Given the description of an element on the screen output the (x, y) to click on. 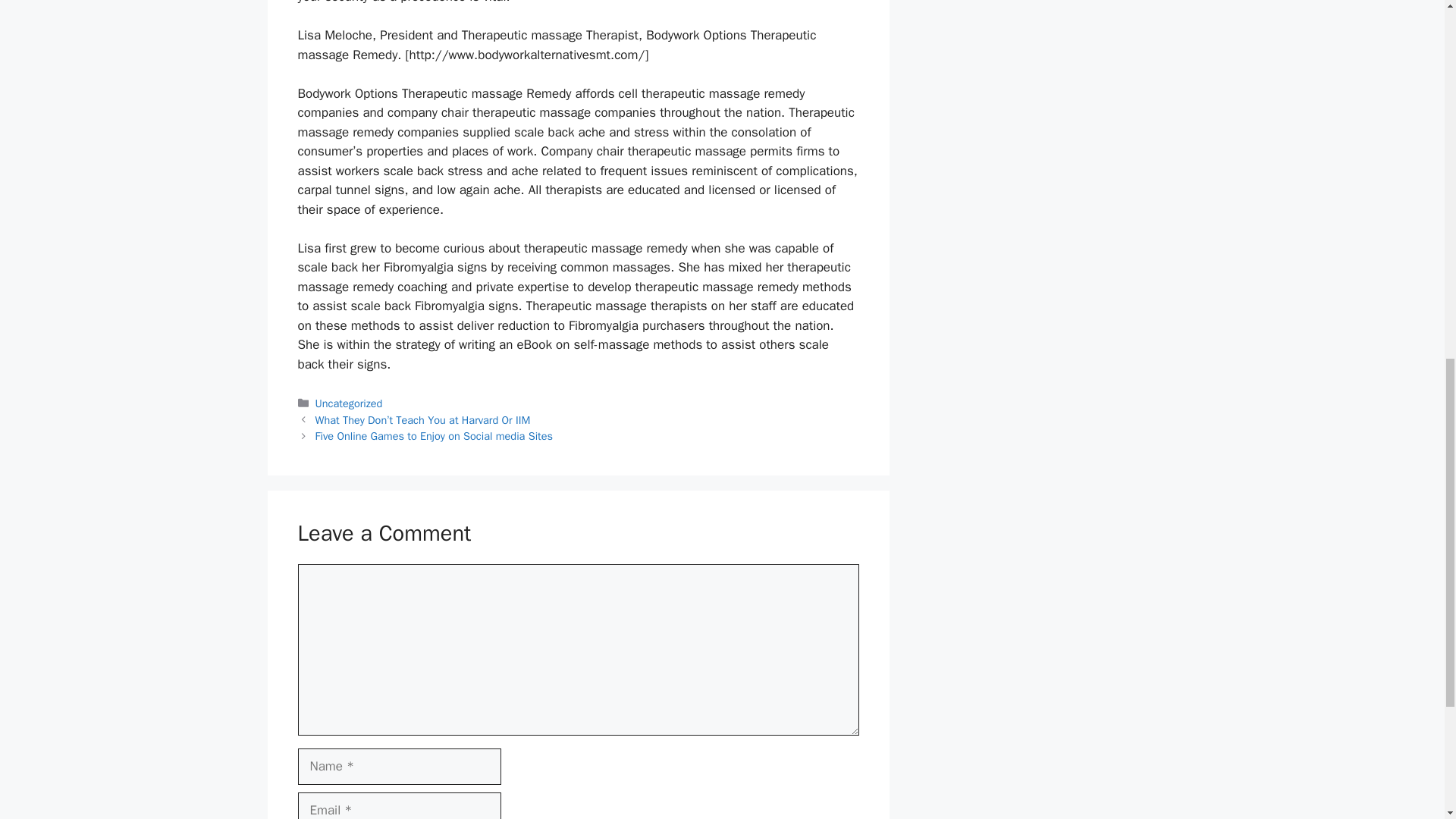
Five Online Games to Enjoy on Social media Sites (434, 436)
Uncategorized (348, 403)
Previous (423, 419)
Next (434, 436)
